Given the description of an element on the screen output the (x, y) to click on. 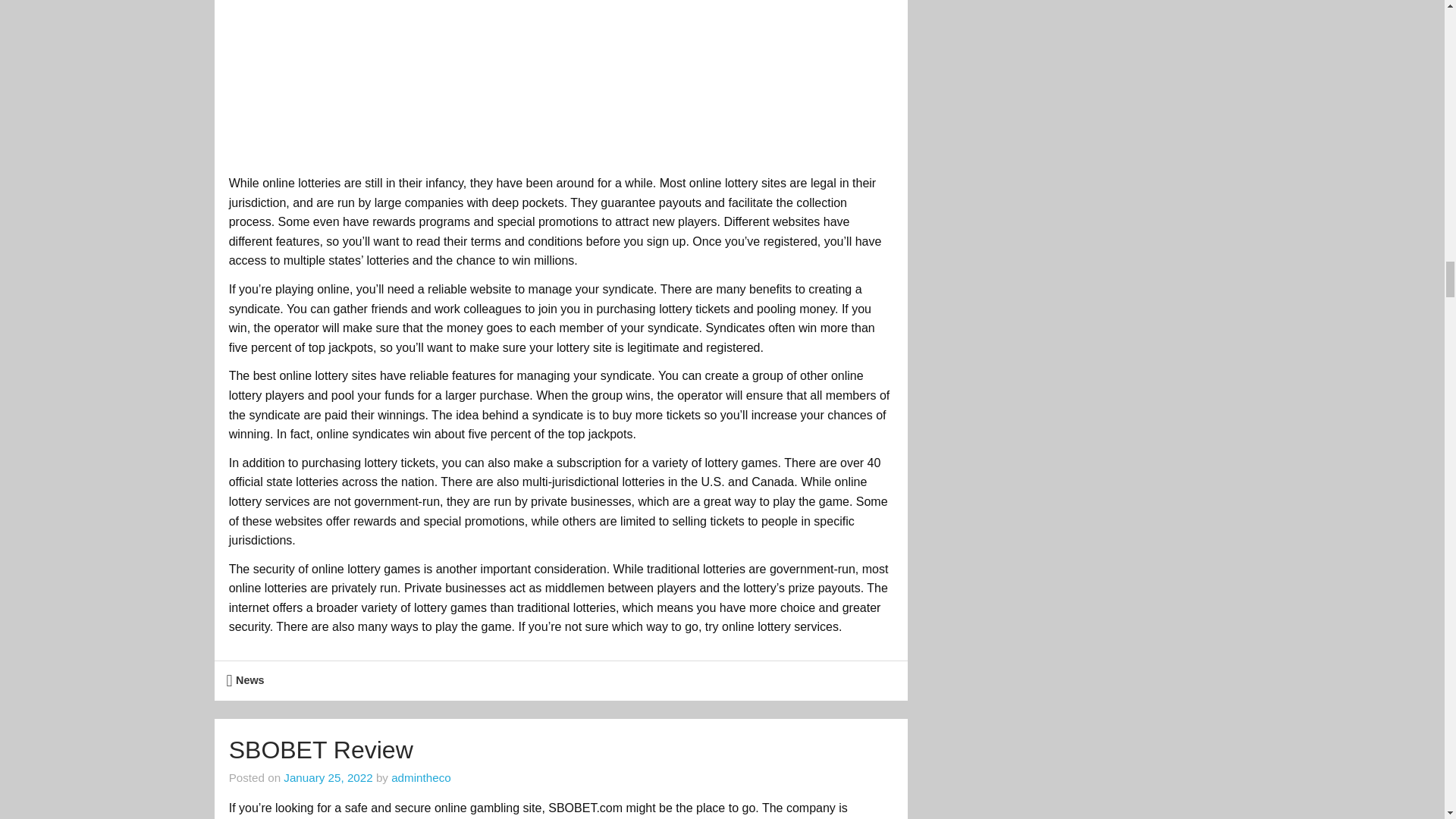
News (249, 680)
View all posts by admintheco (421, 777)
SBOBET Review (320, 749)
January 25, 2022 (327, 777)
admintheco (421, 777)
3:24 pm (327, 777)
